Given the description of an element on the screen output the (x, y) to click on. 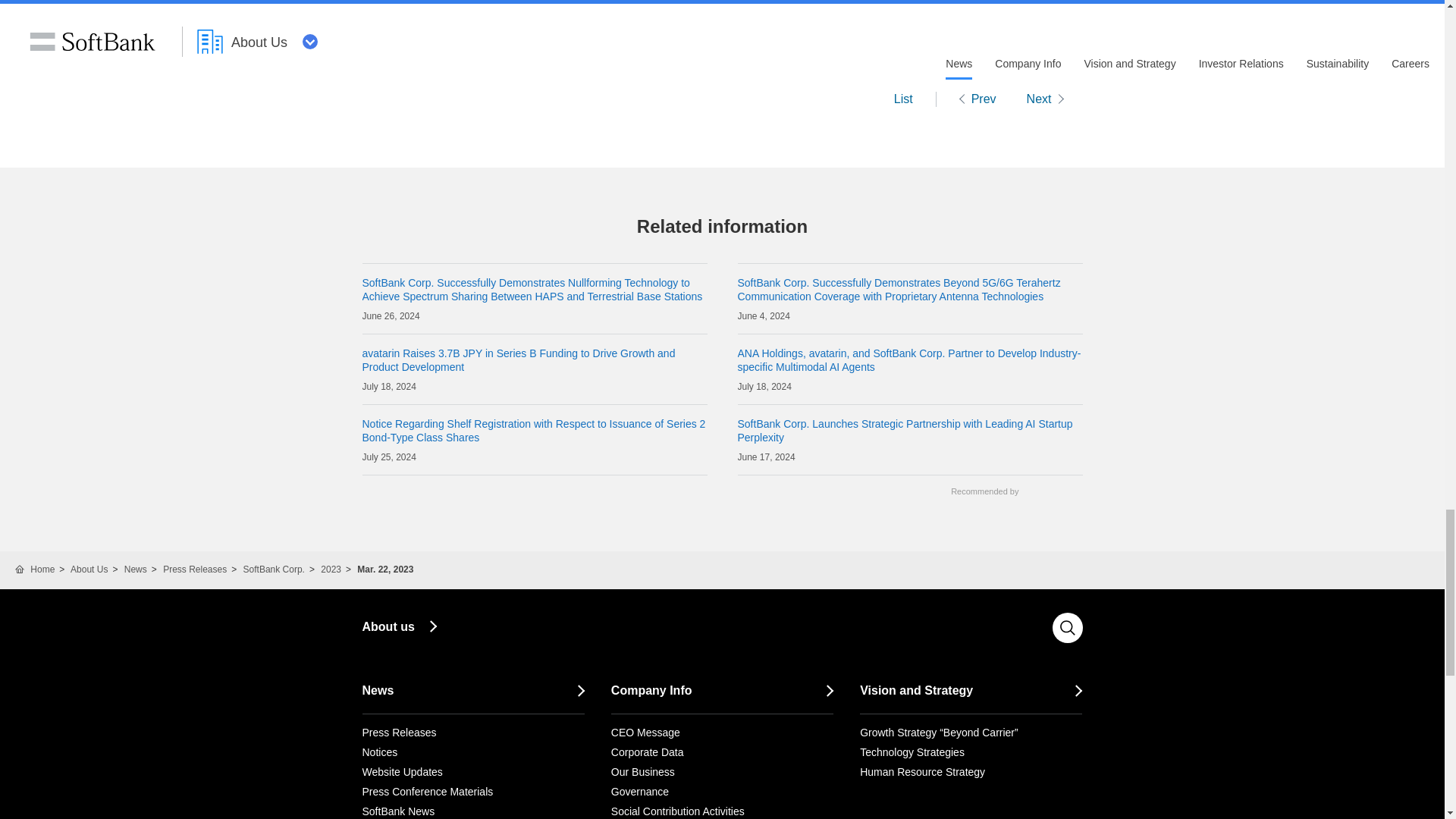
6 (908, 458)
6 (908, 316)
7 (534, 387)
6 (534, 316)
LOGLY (1049, 491)
7 (908, 387)
7 (534, 458)
